Given the description of an element on the screen output the (x, y) to click on. 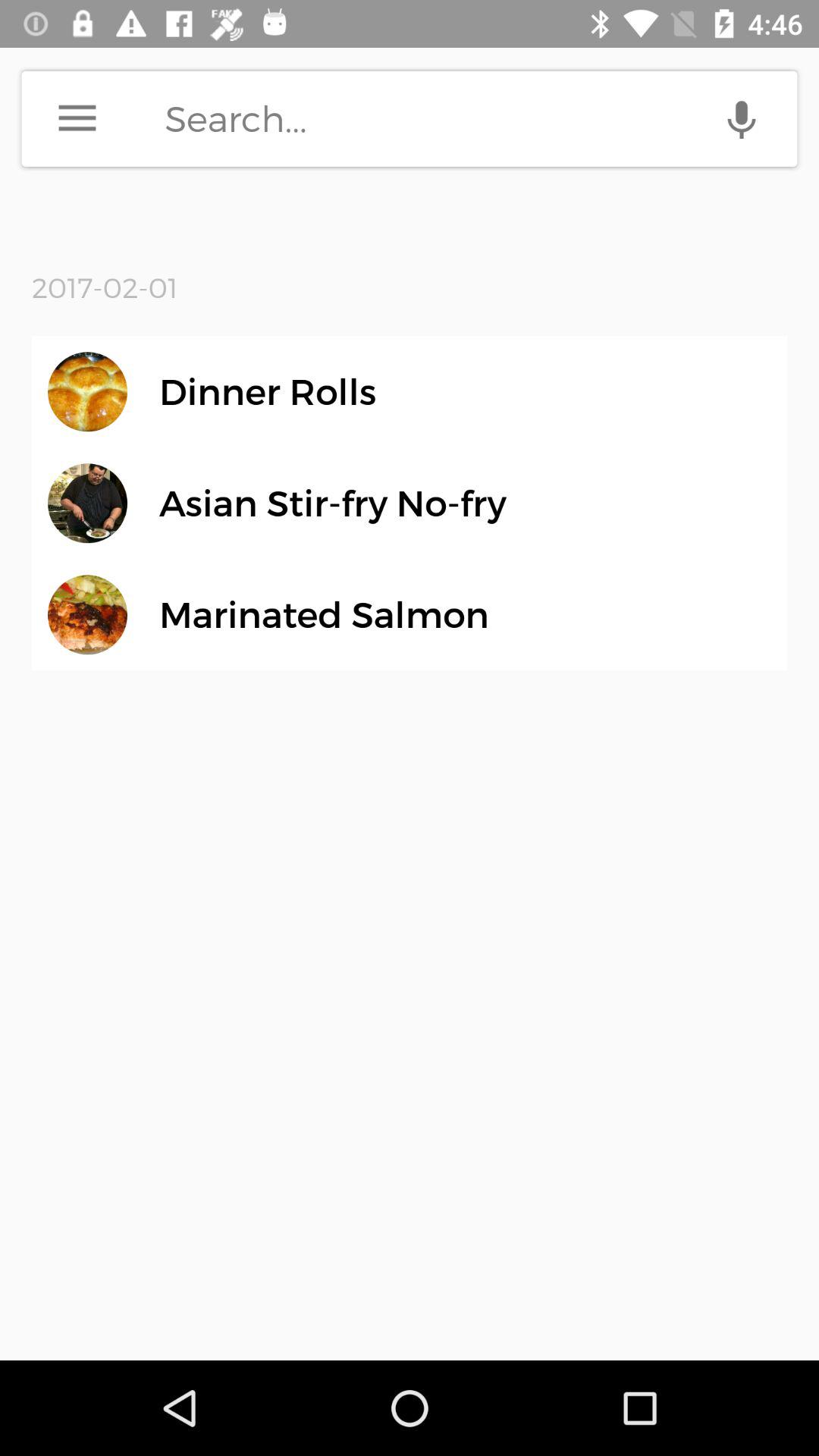
speaker button (741, 118)
